Given the description of an element on the screen output the (x, y) to click on. 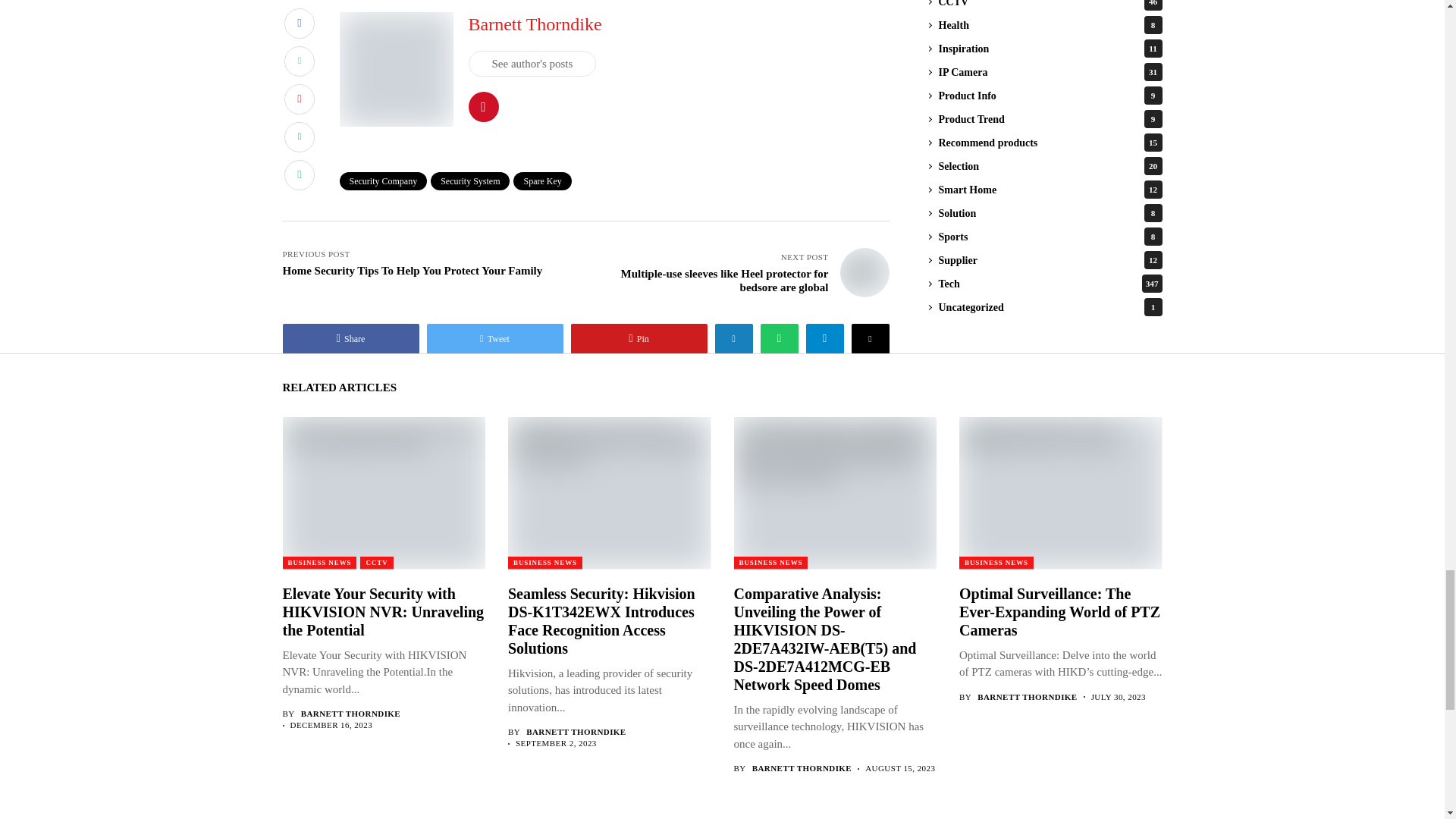
Posts by Barnett Thorndike (575, 732)
Posts by Barnett Thorndike (350, 714)
